Given the description of an element on the screen output the (x, y) to click on. 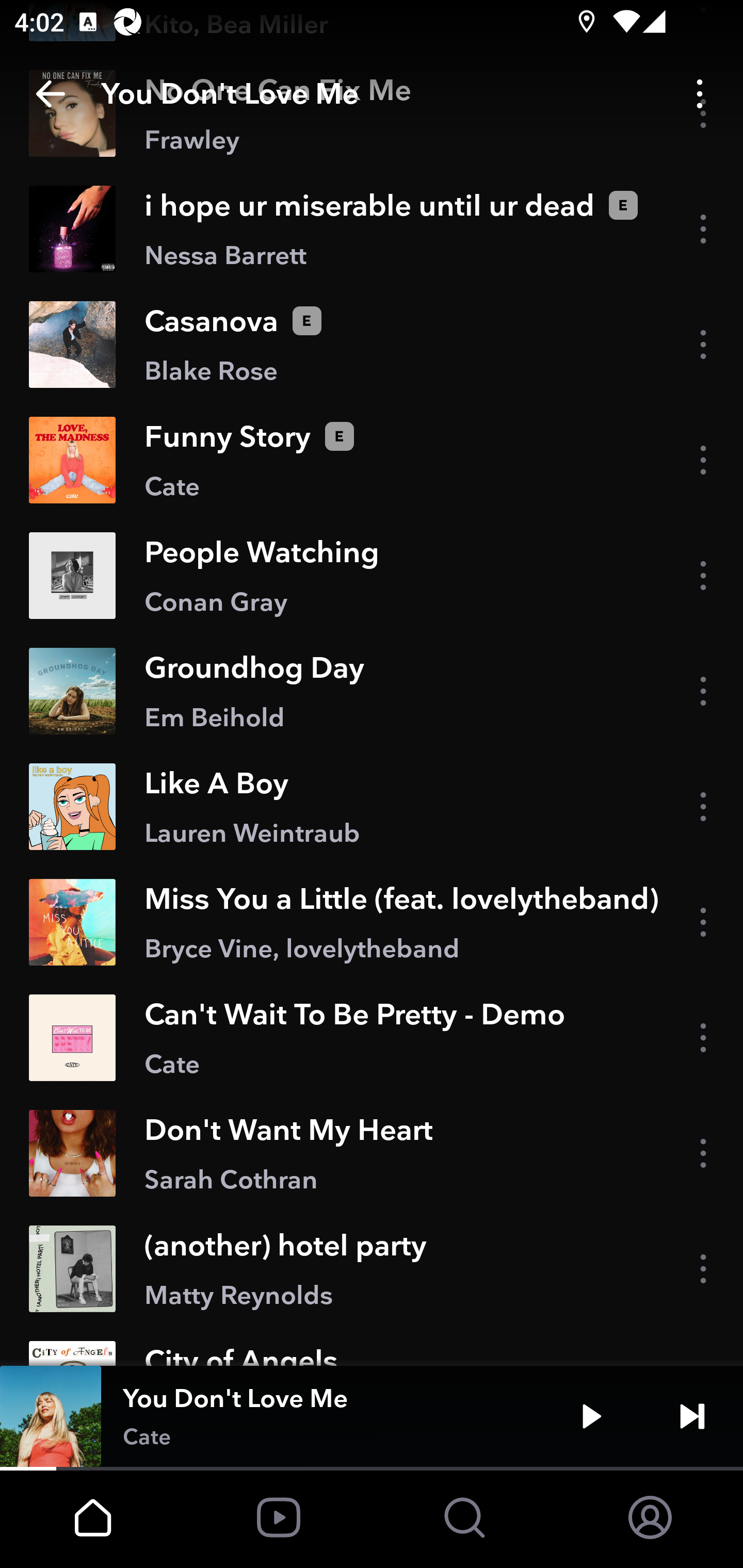
Options (699, 93)
No One Can Fix Me Frawley (371, 113)
i hope ur miserable until ur dead Nessa Barrett (371, 228)
Casanova Blake Rose (371, 344)
Funny Story Cate (371, 459)
People Watching Conan Gray (371, 575)
Groundhog Day Em Beihold (371, 691)
Like A Boy Lauren Weintraub (371, 806)
Can't Wait To Be Pretty - Demo Cate (371, 1038)
Don't Want My Heart Sarah Cothran (371, 1153)
(another) hotel party Matty Reynolds (371, 1268)
You Don't Love Me Cate Play (371, 1416)
Play (590, 1416)
